Given the description of an element on the screen output the (x, y) to click on. 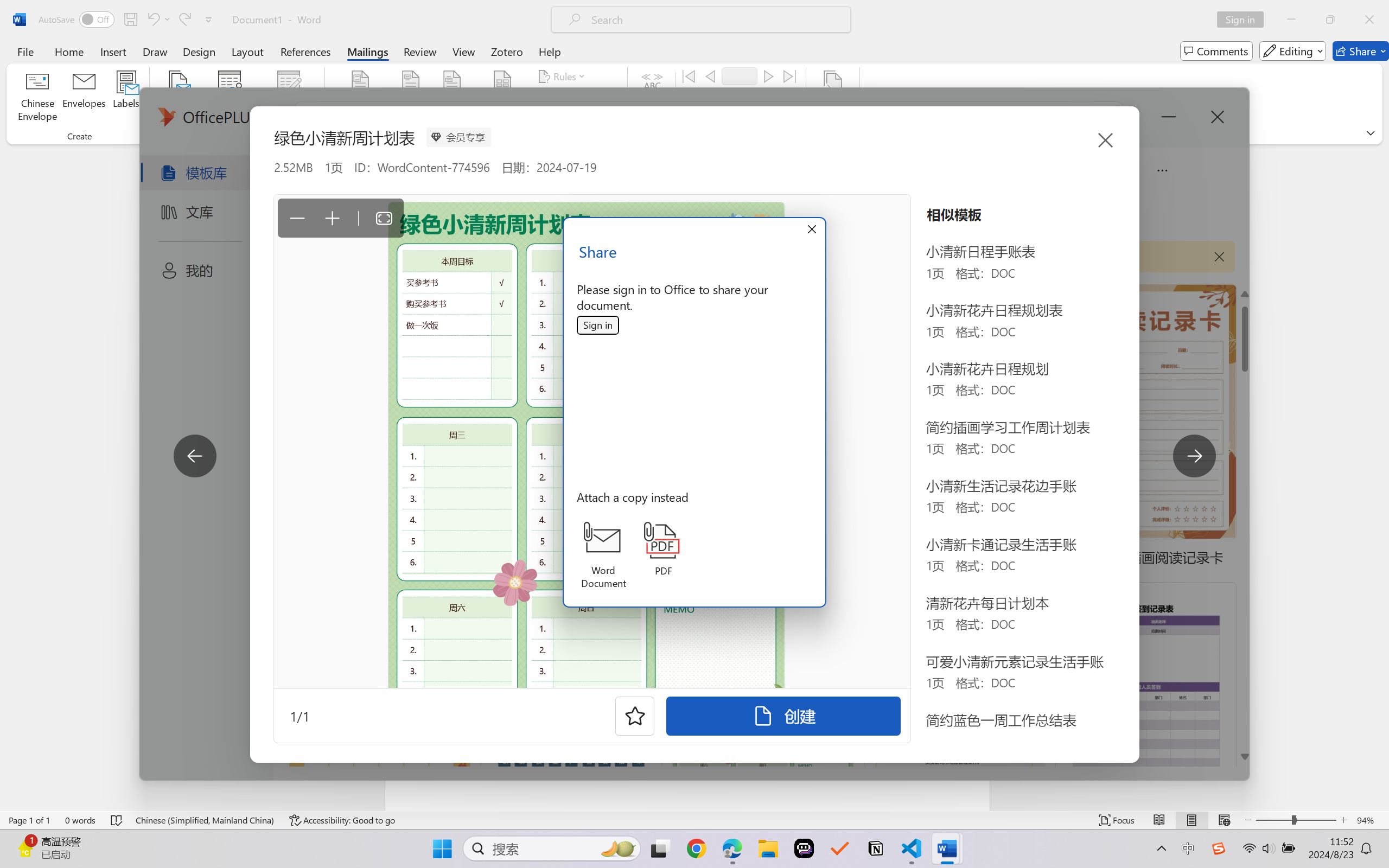
Last (790, 75)
Record (739, 76)
Chinese Envelope... (37, 97)
Envelopes... (84, 97)
Insert Merge Field (502, 81)
Address Block... (410, 97)
Select Recipients (229, 97)
